Given the description of an element on the screen output the (x, y) to click on. 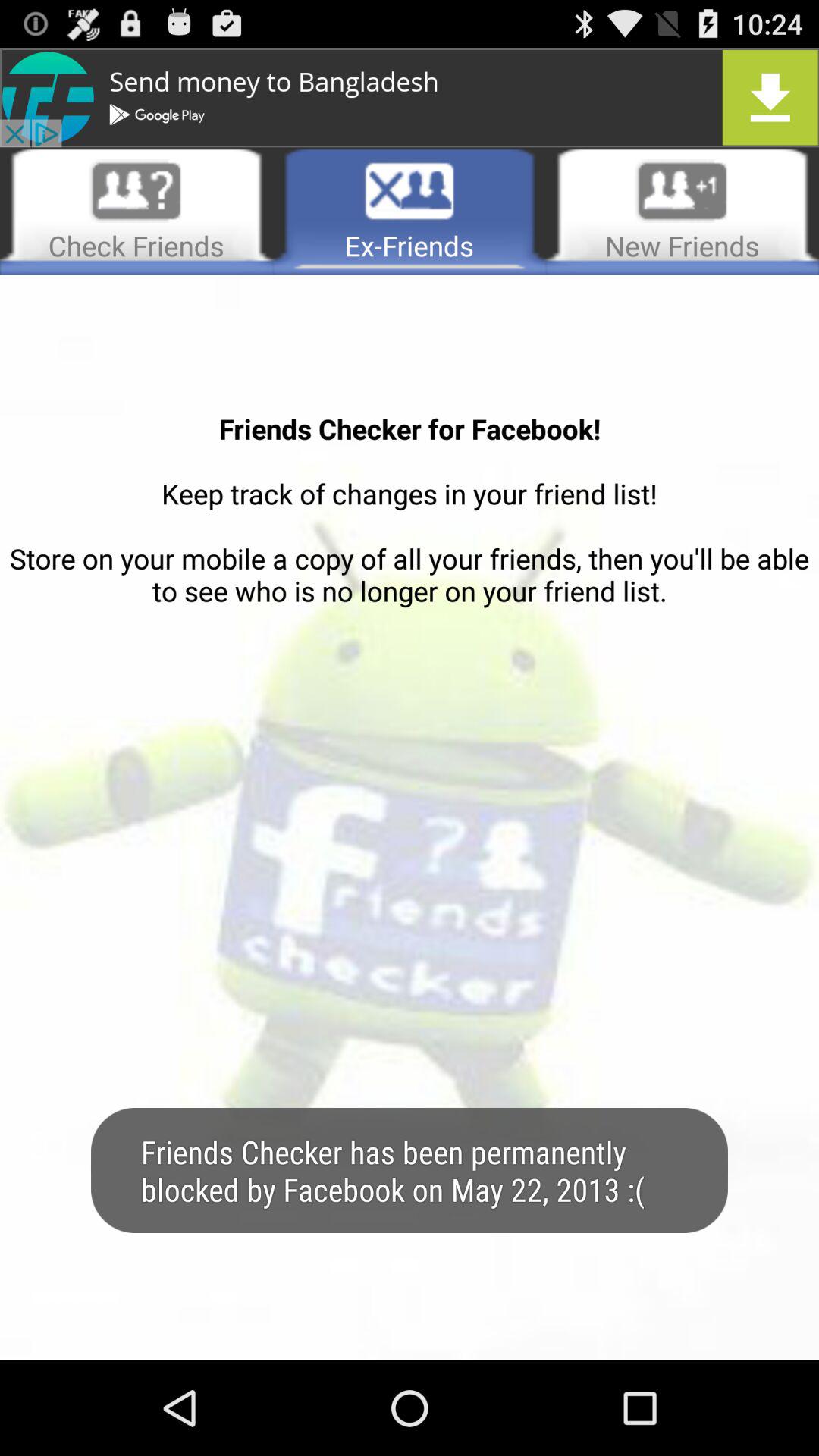
go to download (409, 97)
